Given the description of an element on the screen output the (x, y) to click on. 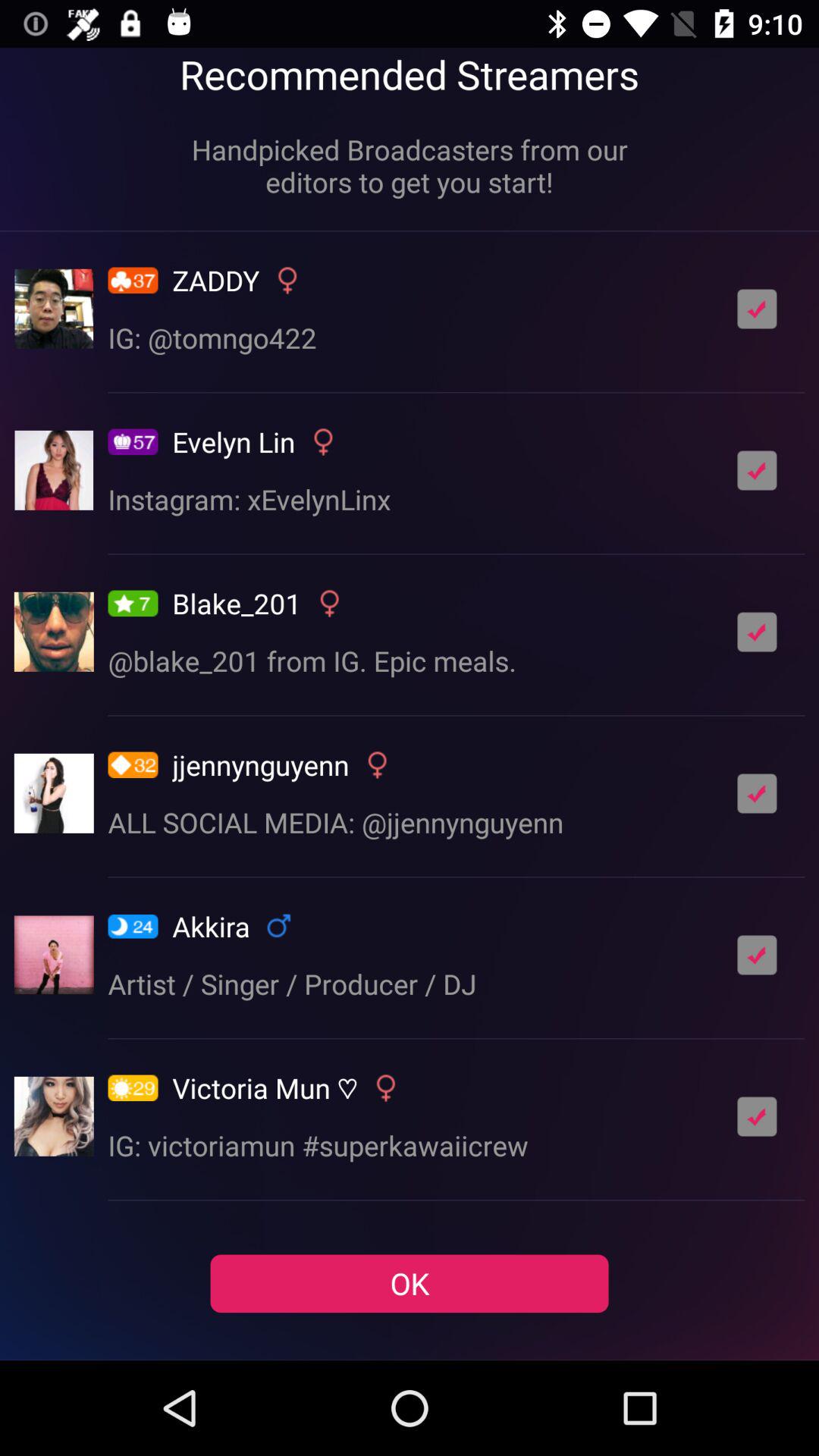
select or deselect streamer (756, 470)
